Given the description of an element on the screen output the (x, y) to click on. 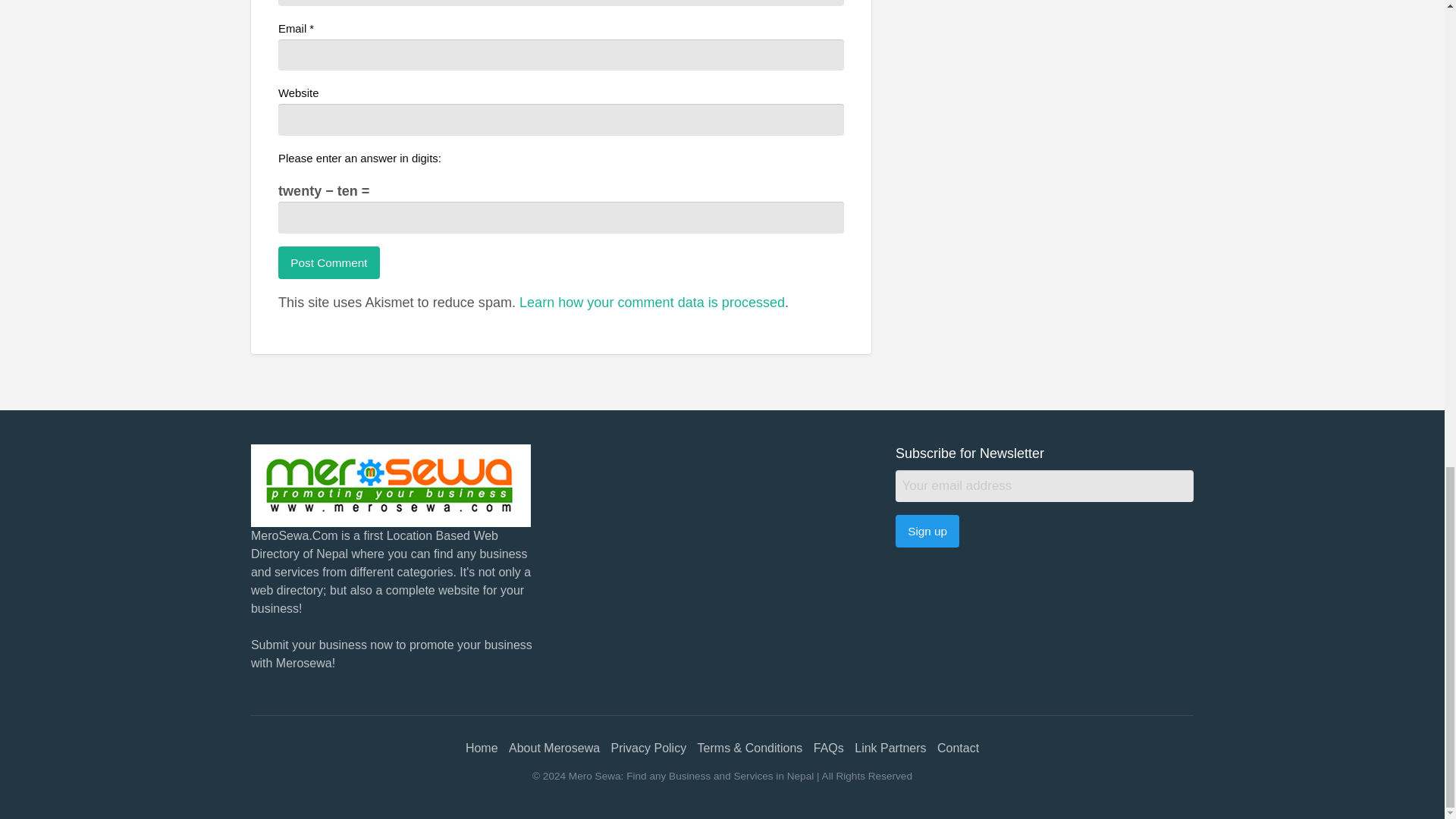
Post Comment (329, 262)
Sign up (927, 531)
